Given the description of an element on the screen output the (x, y) to click on. 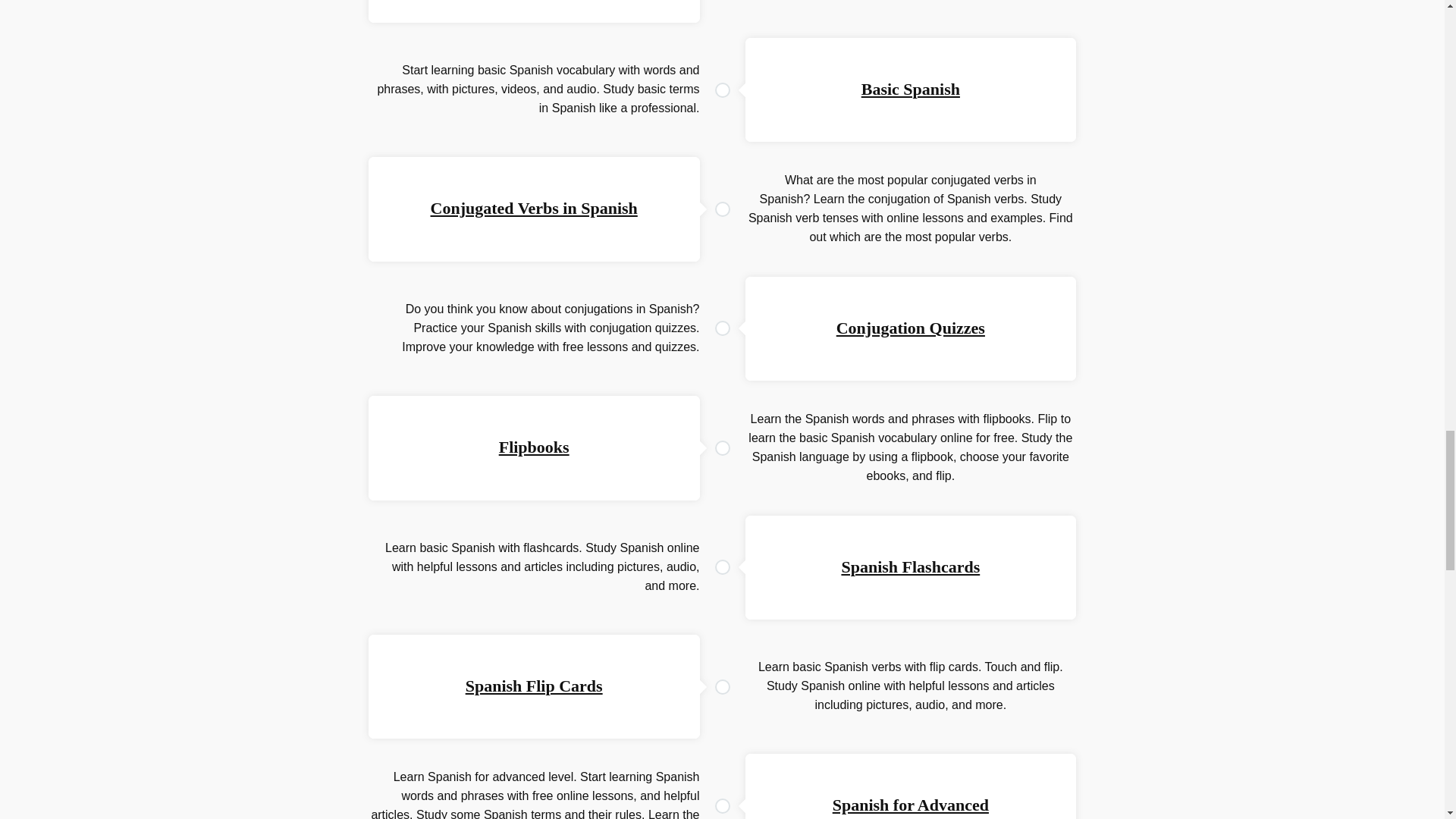
Spanish for Advanced (910, 804)
Flipbooks (534, 446)
Basic Spanish (910, 88)
Conjugated Verbs in Spanish (533, 208)
Conjugation Quizzes (910, 327)
Spanish Flip Cards (533, 685)
Spanish Flashcards (910, 565)
